Given the description of an element on the screen output the (x, y) to click on. 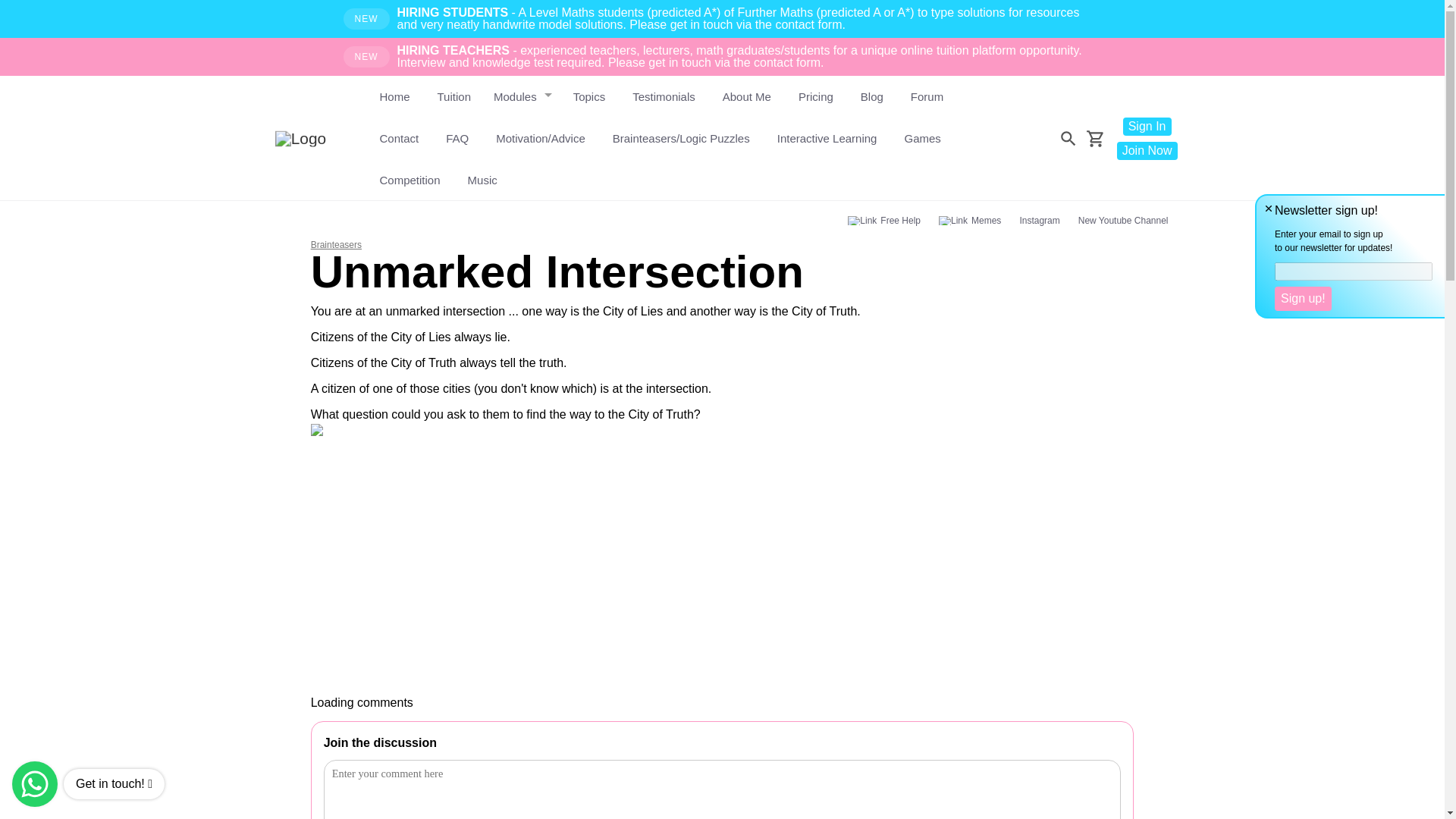
Contact (398, 137)
Blog (871, 96)
Sign In (1147, 126)
About Me (746, 96)
Join Now (1146, 149)
New Youtube Channel (1122, 220)
Pricing (815, 96)
Tuition (453, 96)
Home (394, 96)
Free Help (884, 220)
